Given the description of an element on the screen output the (x, y) to click on. 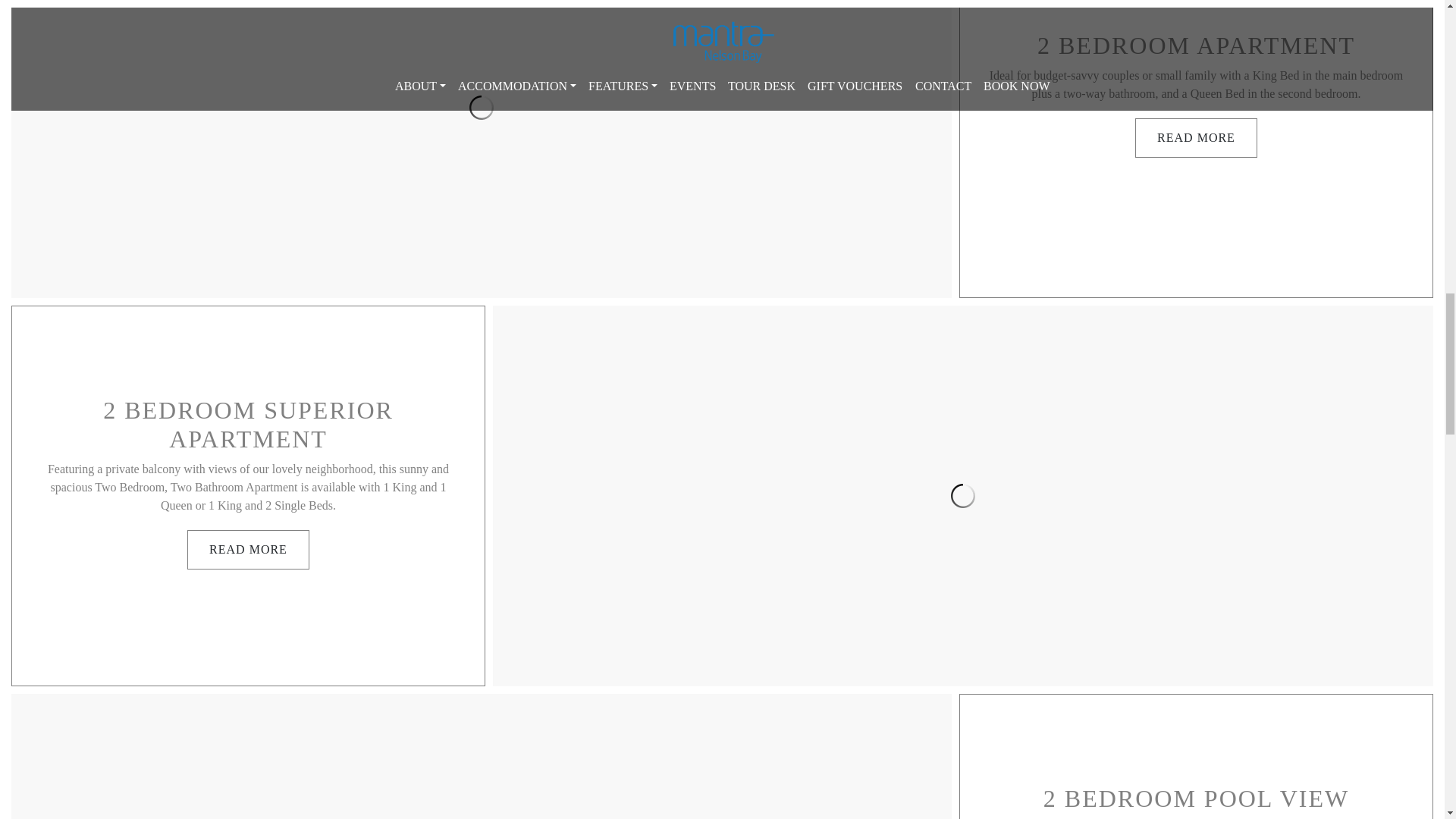
READ MORE (1196, 137)
READ MORE (247, 549)
